Given the description of an element on the screen output the (x, y) to click on. 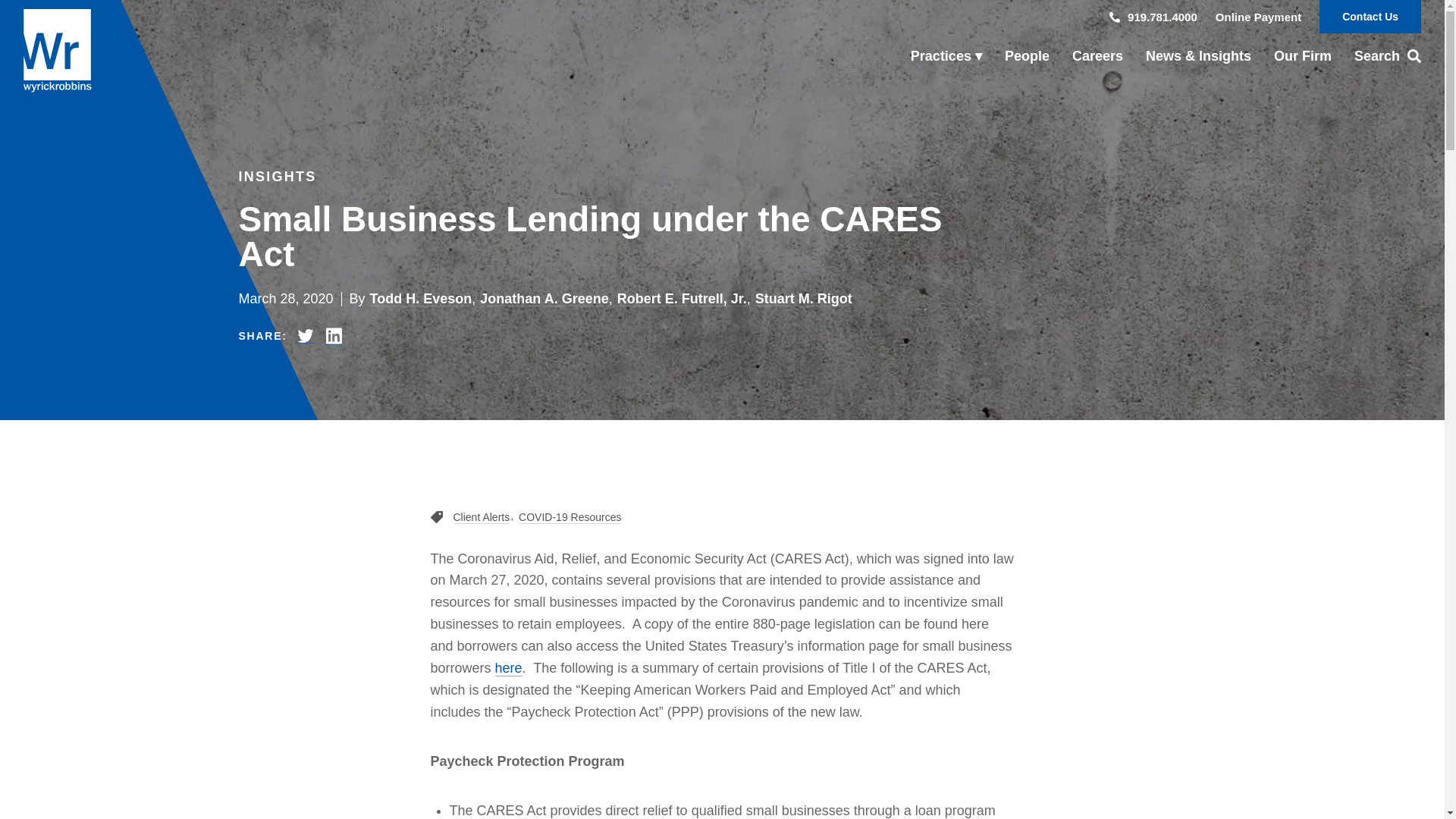
People (1026, 56)
Our Firm (1302, 56)
Careers (1097, 56)
Search (1381, 56)
Practices (945, 56)
Contact Us (1370, 16)
Jonathan A. Greene (544, 298)
Robert E. Futrell, Jr. (681, 298)
Todd H. Eveson (420, 298)
COVID-19 Resources (569, 517)
Online Payment (1258, 16)
Stuart M. Rigot (803, 298)
919.781.4000 (1152, 16)
Client Alerts (481, 517)
